Given the description of an element on the screen output the (x, y) to click on. 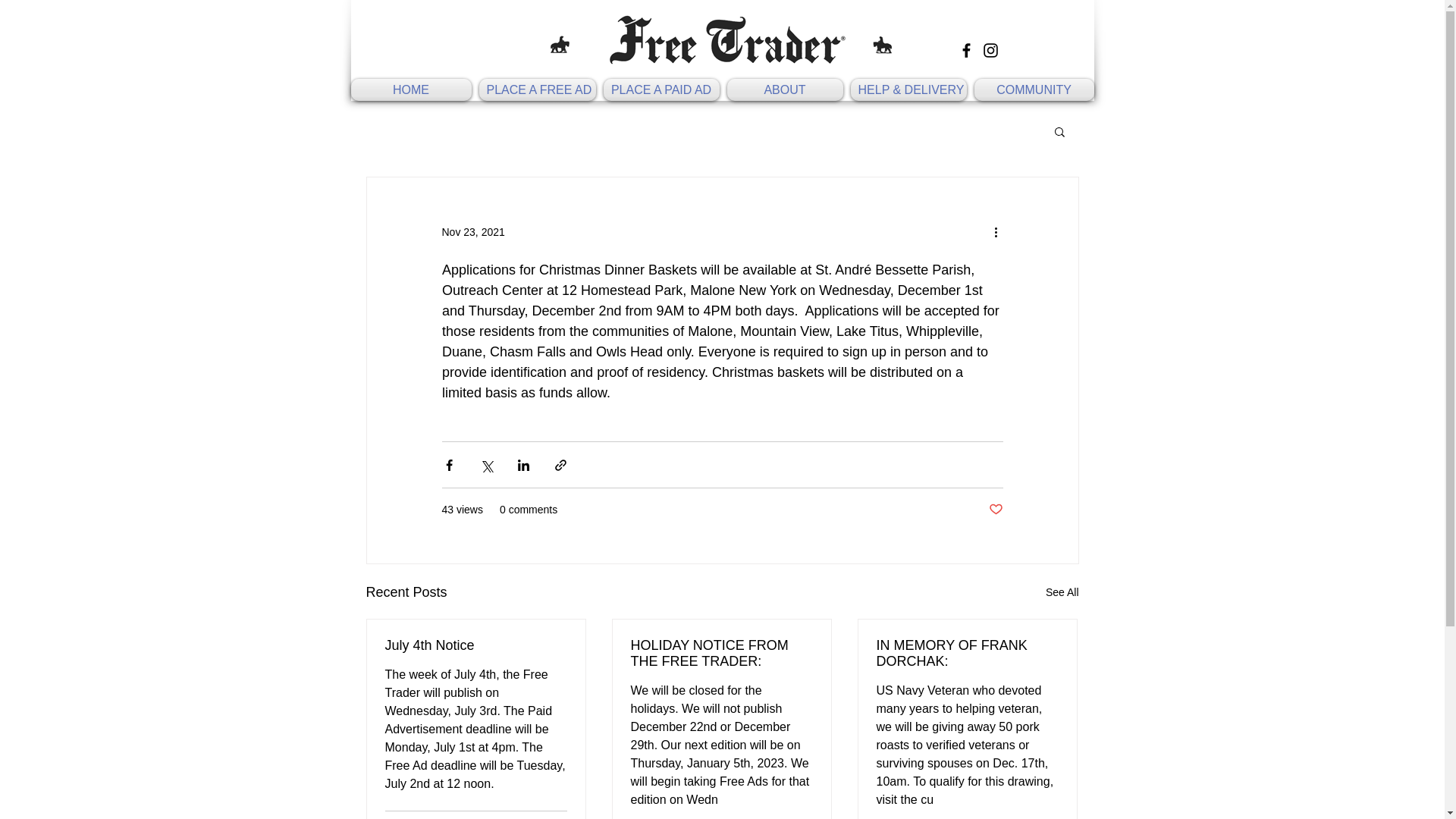
COMMUNITY (1032, 89)
HOME (412, 89)
See All (1061, 592)
PLACE A PAID AD (660, 89)
Free Trader since 1980 (722, 39)
Nov 23, 2021 (472, 232)
PLACE A FREE AD (536, 89)
HOLIDAY NOTICE FROM THE FREE TRADER: (721, 653)
ABOUT (785, 89)
Post not marked as liked (995, 509)
